Given the description of an element on the screen output the (x, y) to click on. 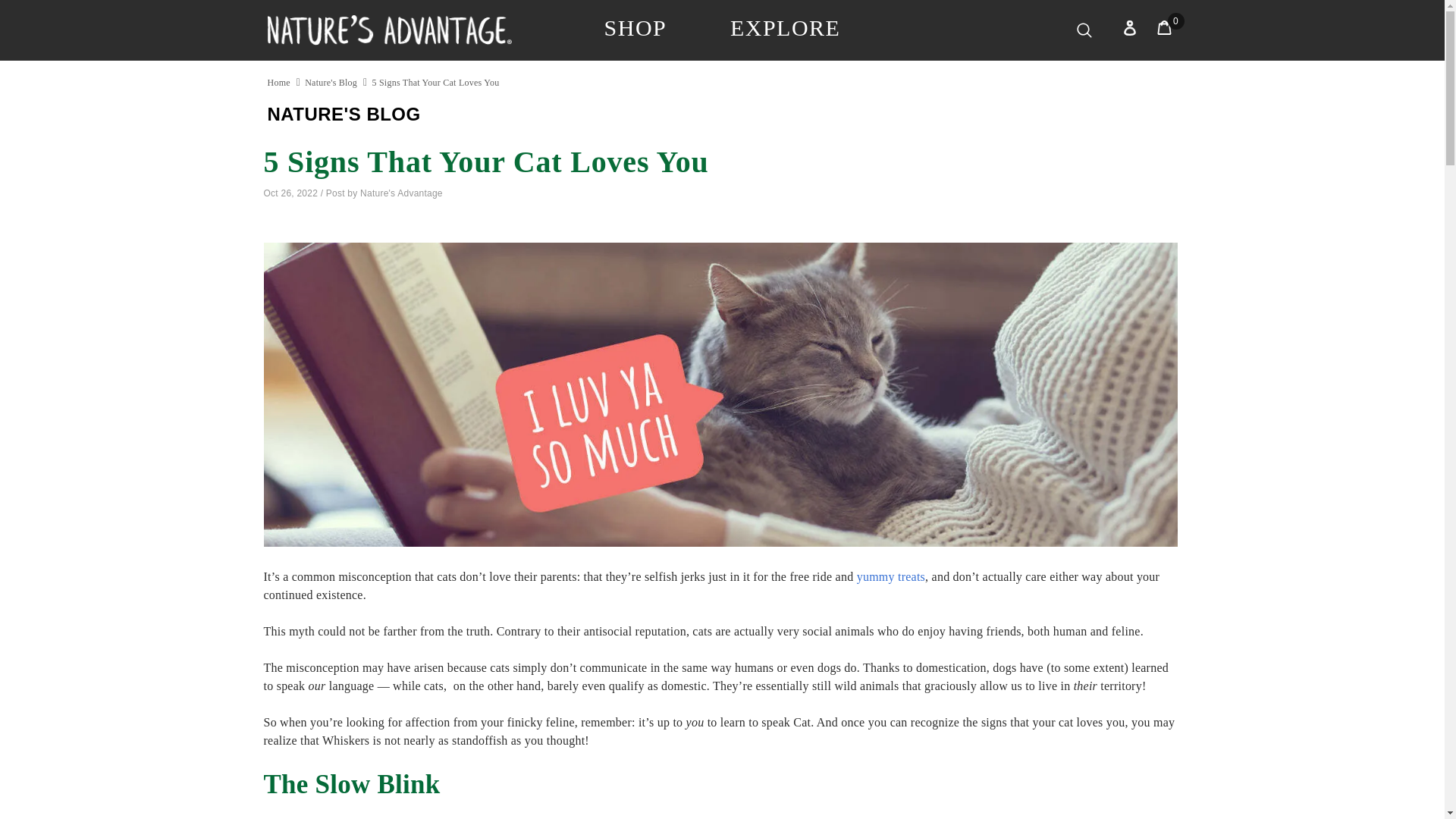
yummy treats (890, 576)
Cart Icon (1164, 28)
Home (277, 82)
EXPLORE (785, 28)
SHOP (635, 28)
Logo (389, 28)
Search Icon (1082, 29)
0 (1164, 28)
Nature'S Blog (330, 81)
